Given the description of an element on the screen output the (x, y) to click on. 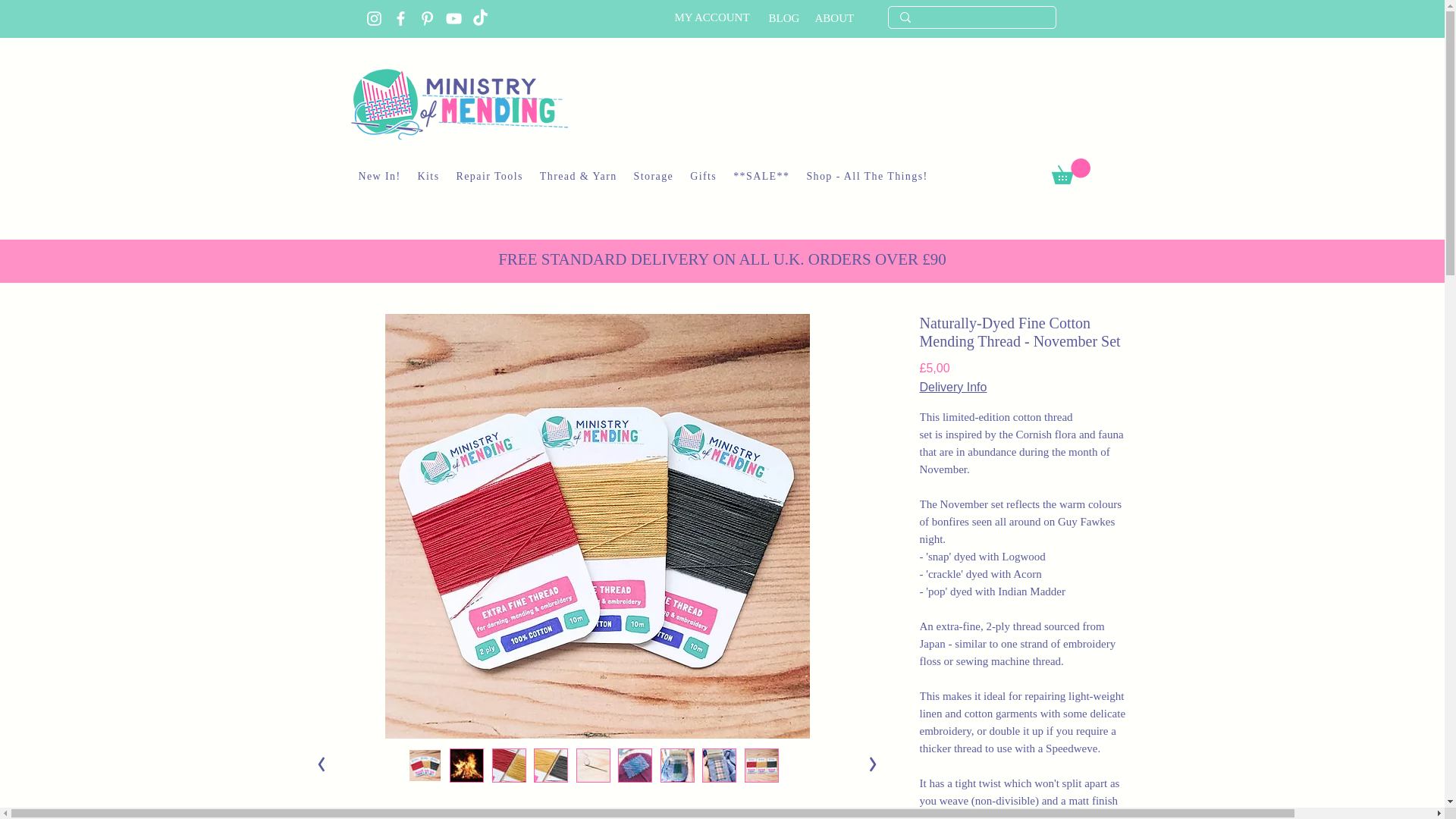
Kits (428, 176)
Repair Tools (489, 176)
Gifts (702, 176)
MY ACCOUNT (712, 17)
New In! (378, 176)
BLOG (783, 18)
ABOUT (833, 18)
Storage (653, 176)
